Given the description of an element on the screen output the (x, y) to click on. 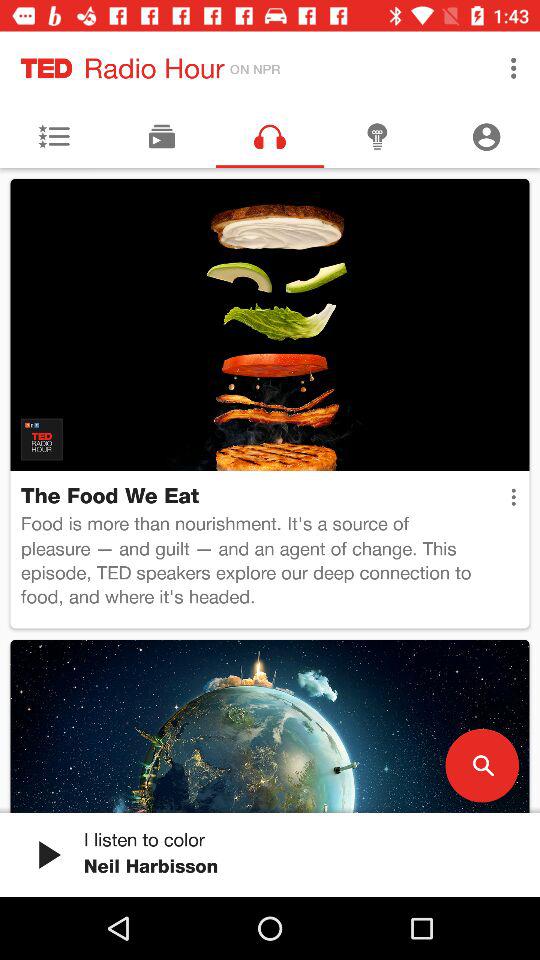
press the item to the right of the food is more (513, 497)
